Given the description of an element on the screen output the (x, y) to click on. 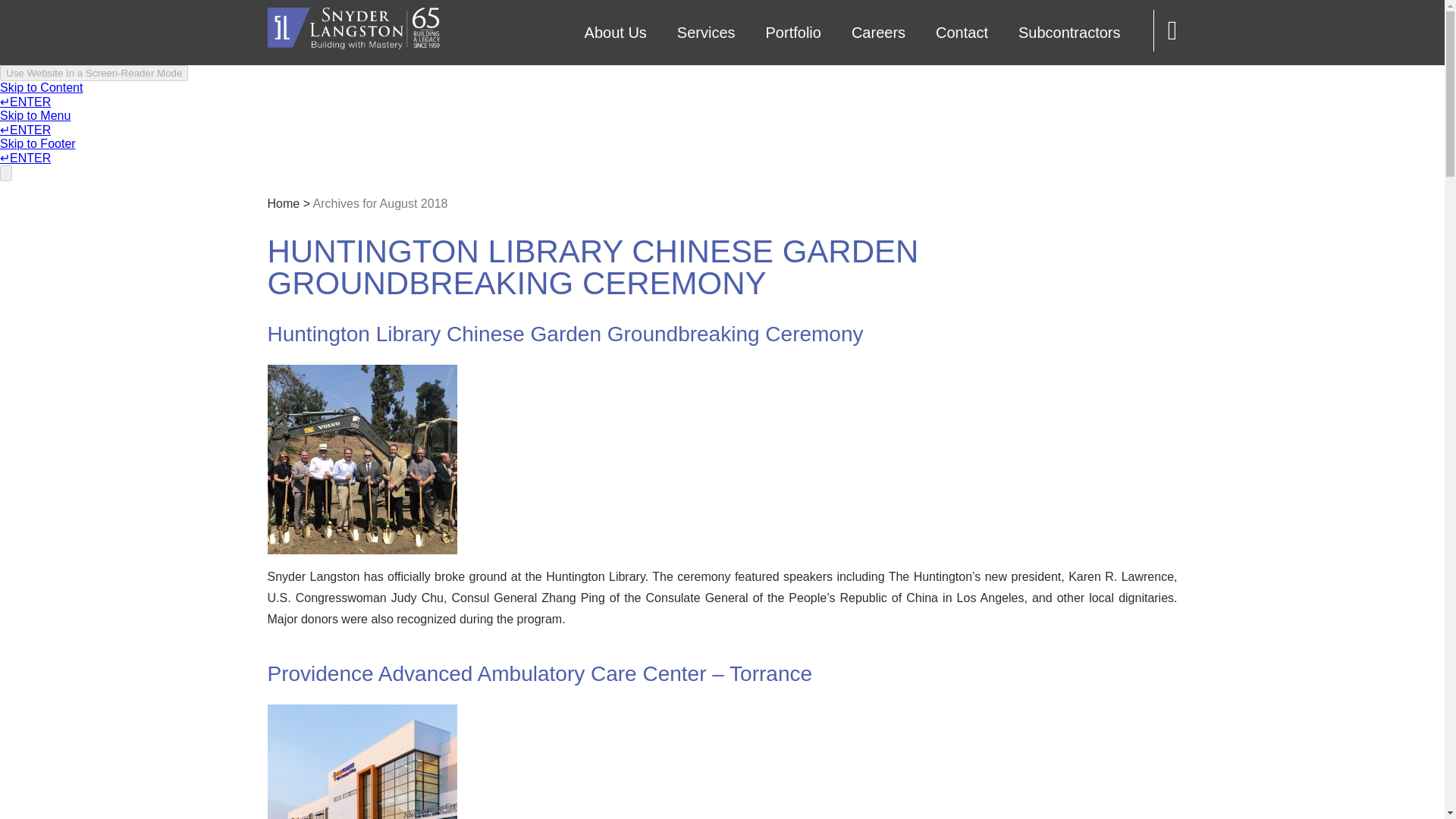
Subcontractors (1069, 32)
Portfolio (793, 32)
Contact (961, 32)
About Us (615, 32)
Careers (877, 32)
Services (706, 32)
